Given the description of an element on the screen output the (x, y) to click on. 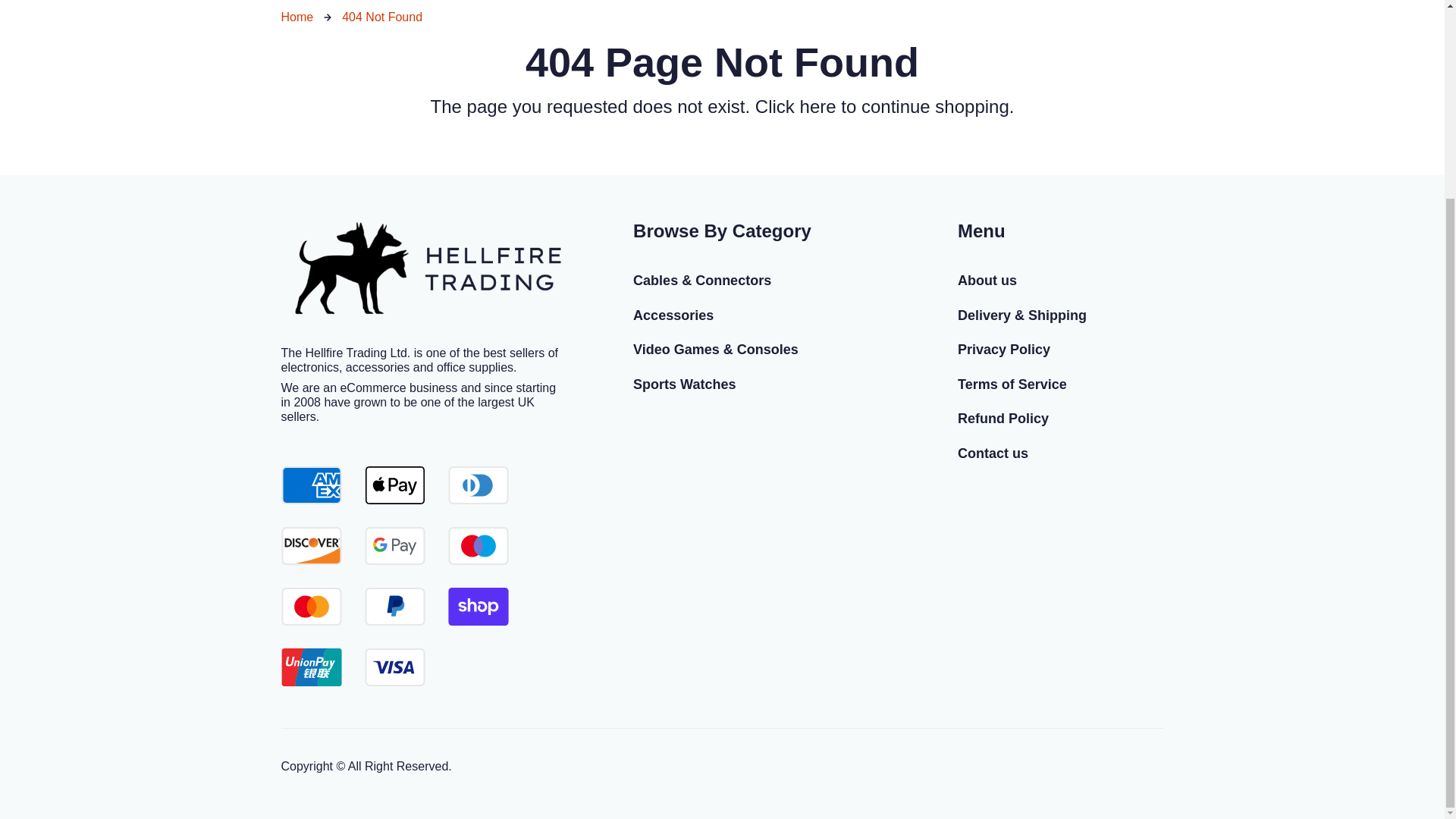
Google Pay (394, 546)
American Express (310, 485)
Maestro (477, 546)
Discover (310, 546)
Visa (394, 667)
Shop Pay (477, 606)
Apple Pay (394, 485)
Back to the frontpage (297, 17)
Diners Club (477, 485)
PayPal (394, 606)
Union Pay (310, 667)
Mastercard (310, 606)
